Given the description of an element on the screen output the (x, y) to click on. 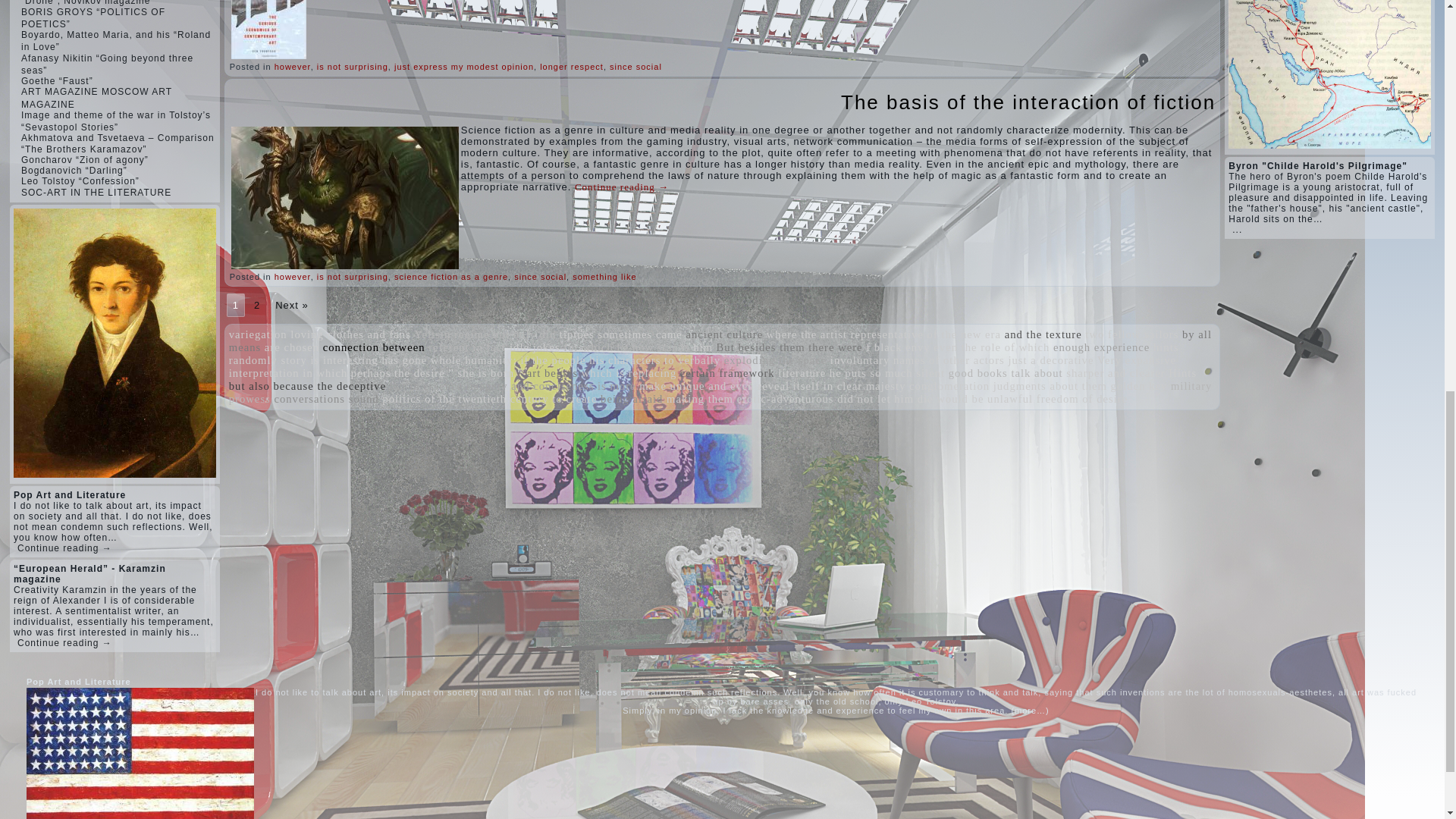
SOC-ART IN THE LITERATURE (96, 192)
ART MAGAZINE MOSCOW ART MAGAZINE (96, 97)
